Given the description of an element on the screen output the (x, y) to click on. 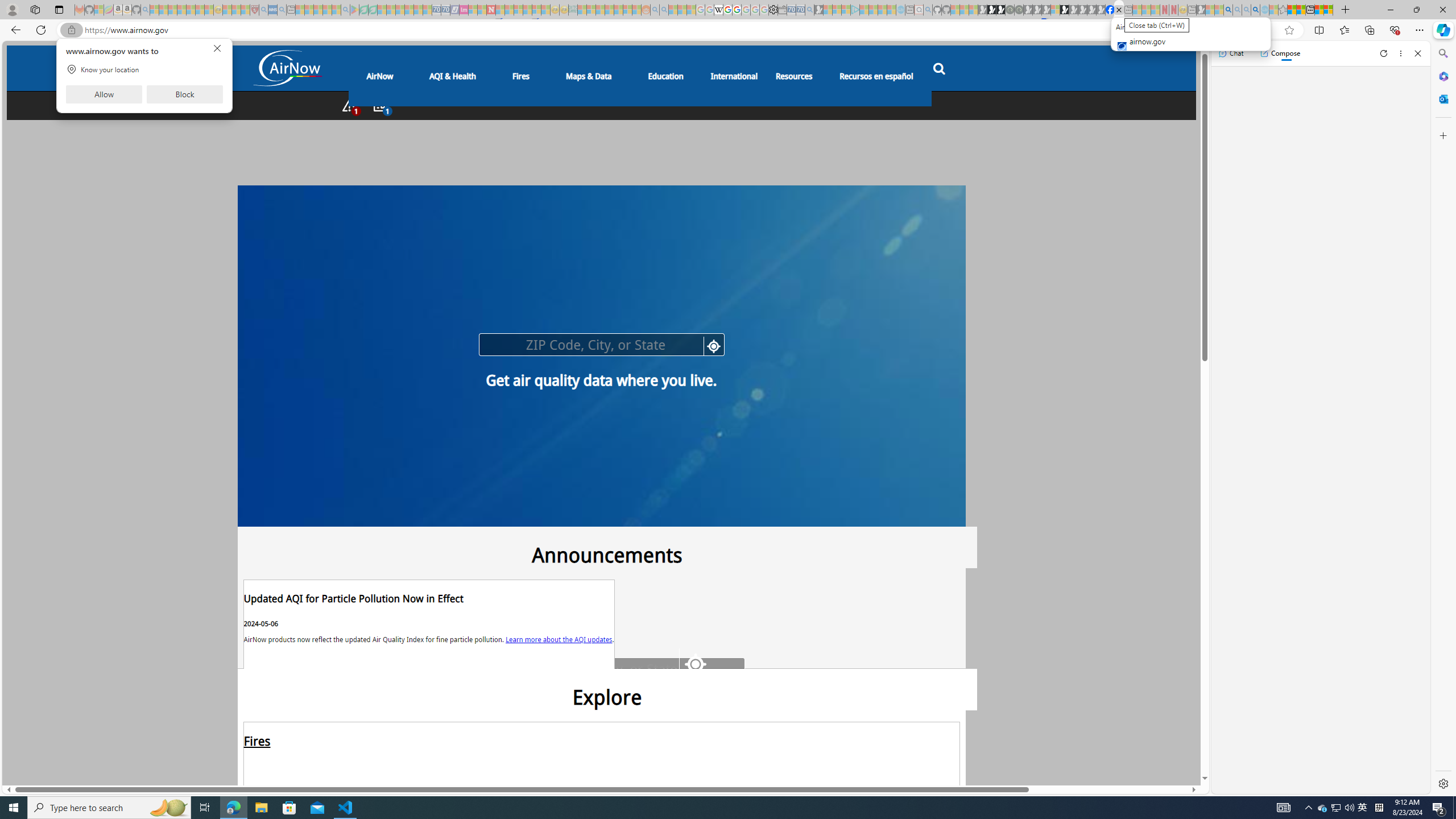
MSN - Sleeping (1200, 9)
https://www.airnow.gov/announcement/5494 (428, 624)
